Given the description of an element on the screen output the (x, y) to click on. 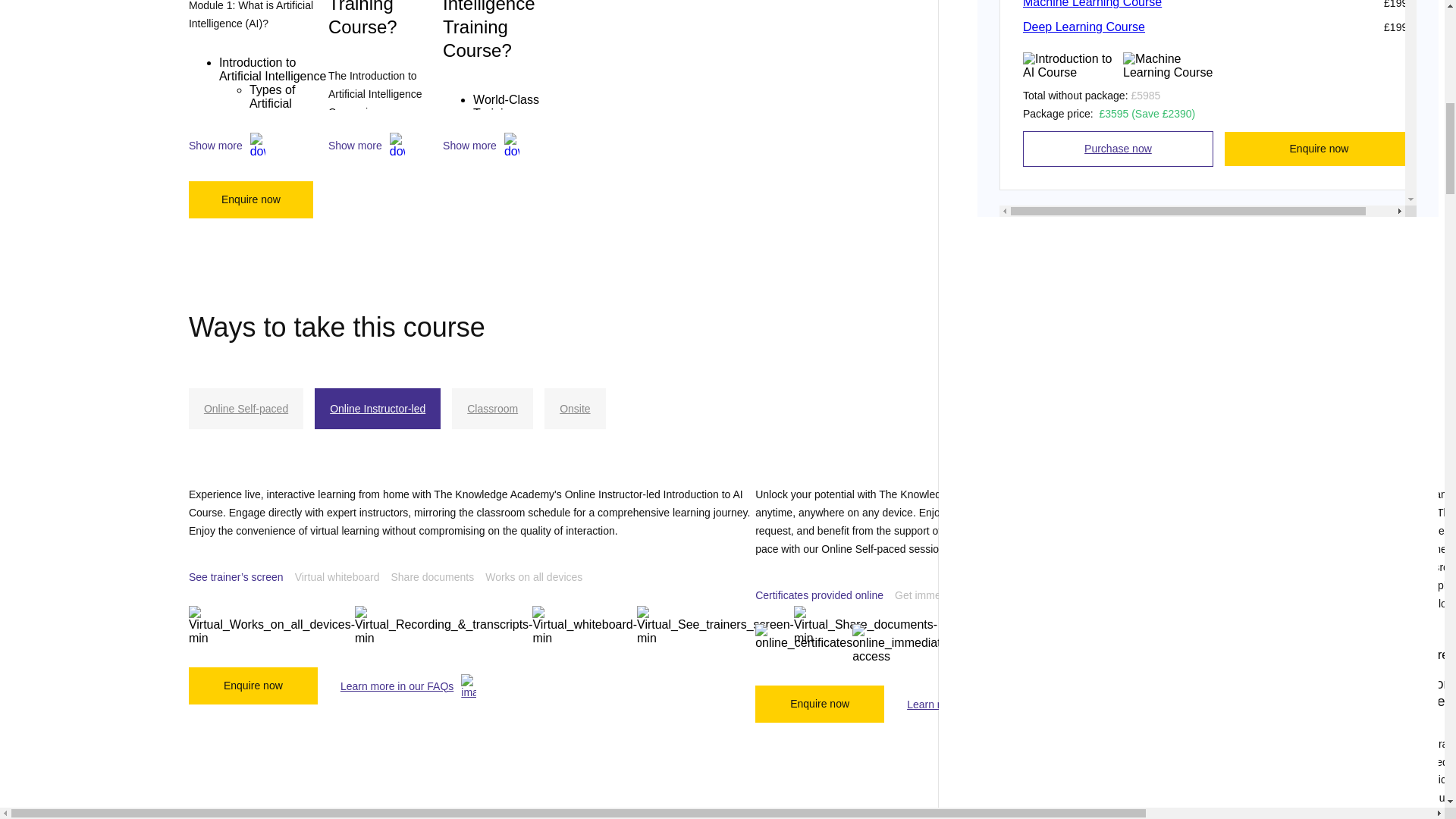
Enquire now (251, 199)
Show more (259, 145)
Show more (494, 145)
Show more (385, 145)
